Given the description of an element on the screen output the (x, y) to click on. 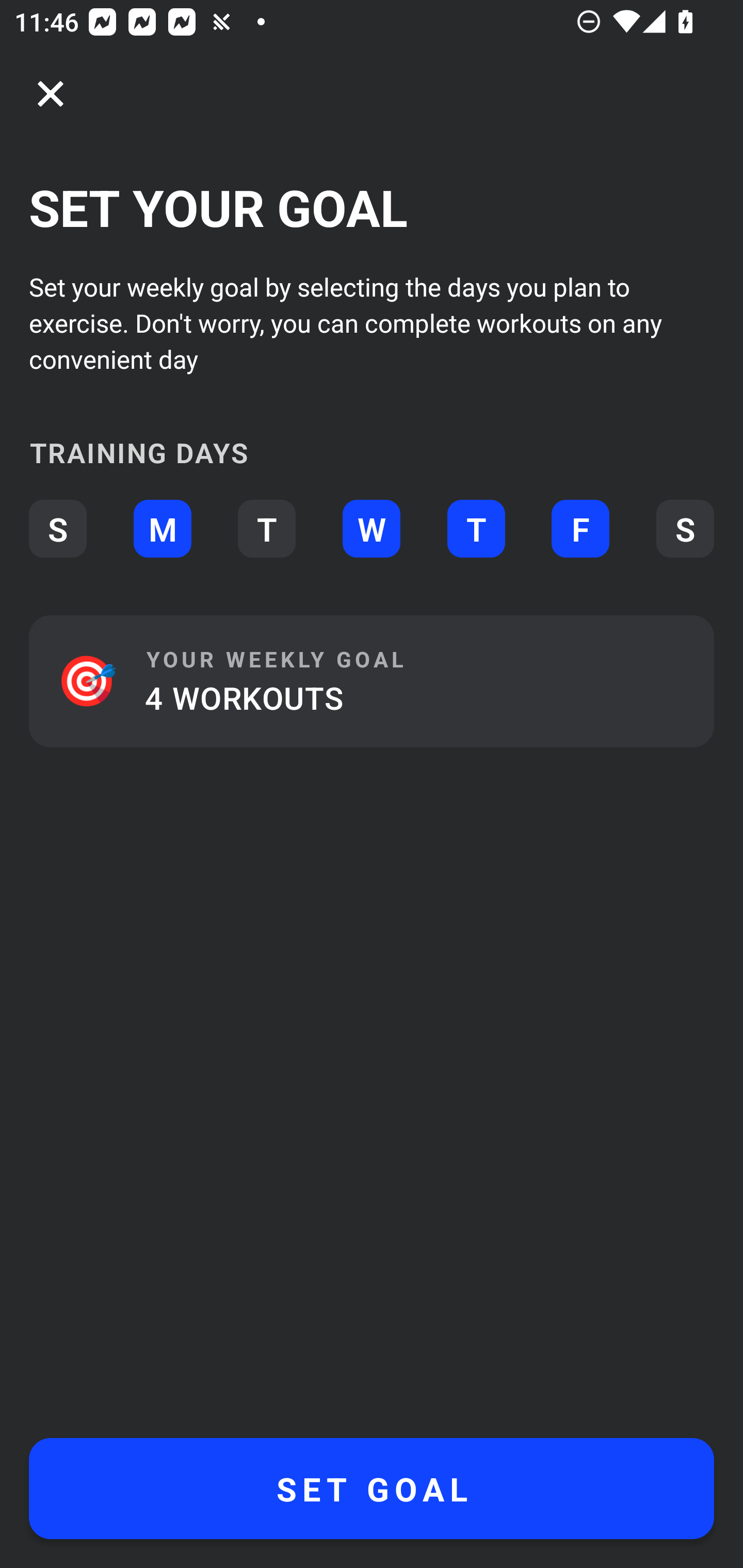
Back Icon (50, 93)
S (57, 529)
M (161, 529)
T (266, 529)
W (371, 529)
T (476, 529)
F (580, 529)
S (684, 529)
SET GOAL (371, 1488)
